Given the description of an element on the screen output the (x, y) to click on. 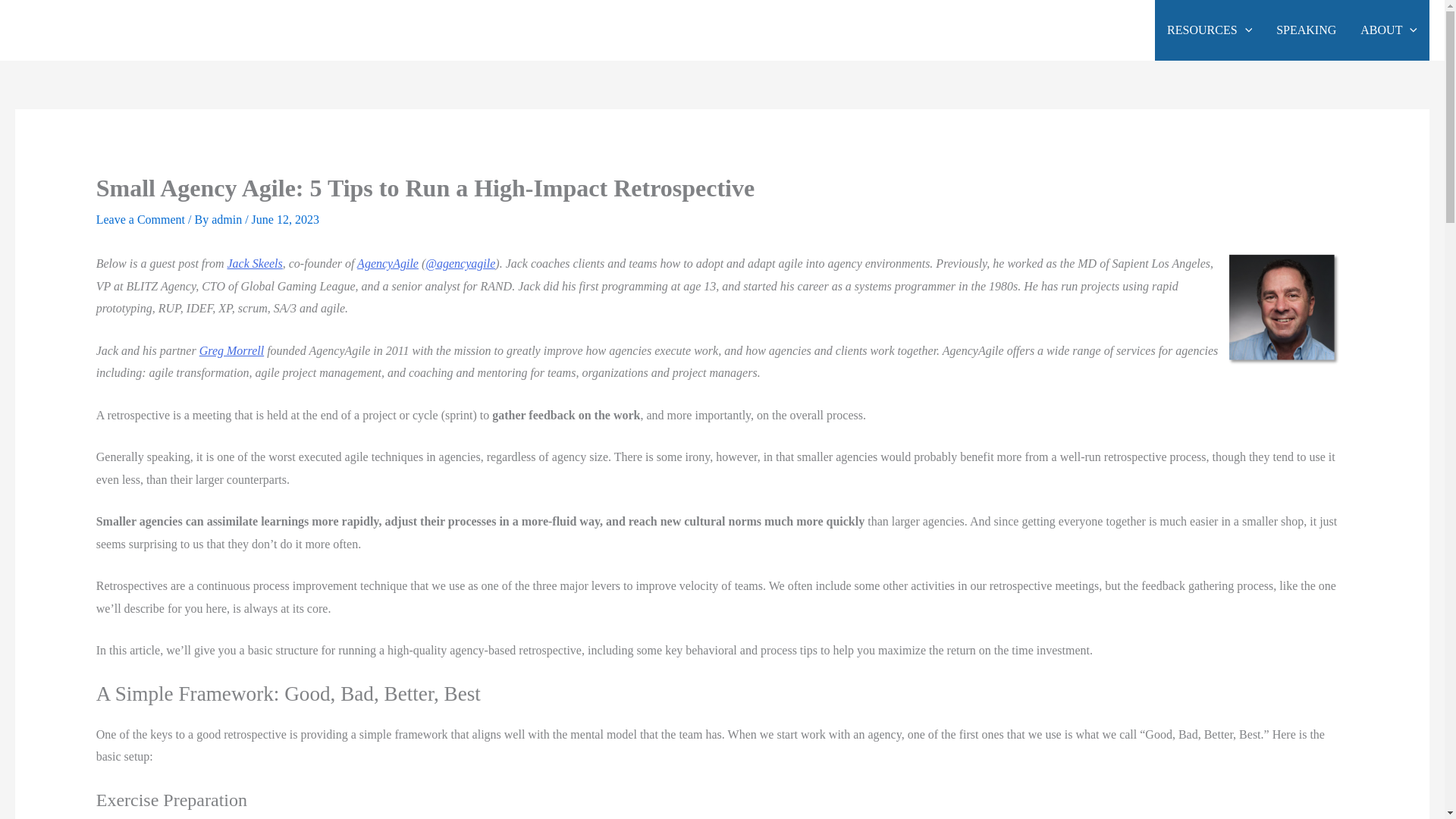
Leave a Comment (140, 219)
SPEAKING (1305, 30)
Jack Skeels (254, 263)
AgencyAgile (387, 263)
Greg Morrell (231, 350)
RESOURCES (1208, 30)
View all posts by admin (227, 219)
Jack Skeels (1283, 309)
ABOUT (1388, 30)
admin (227, 219)
